Given the description of an element on the screen output the (x, y) to click on. 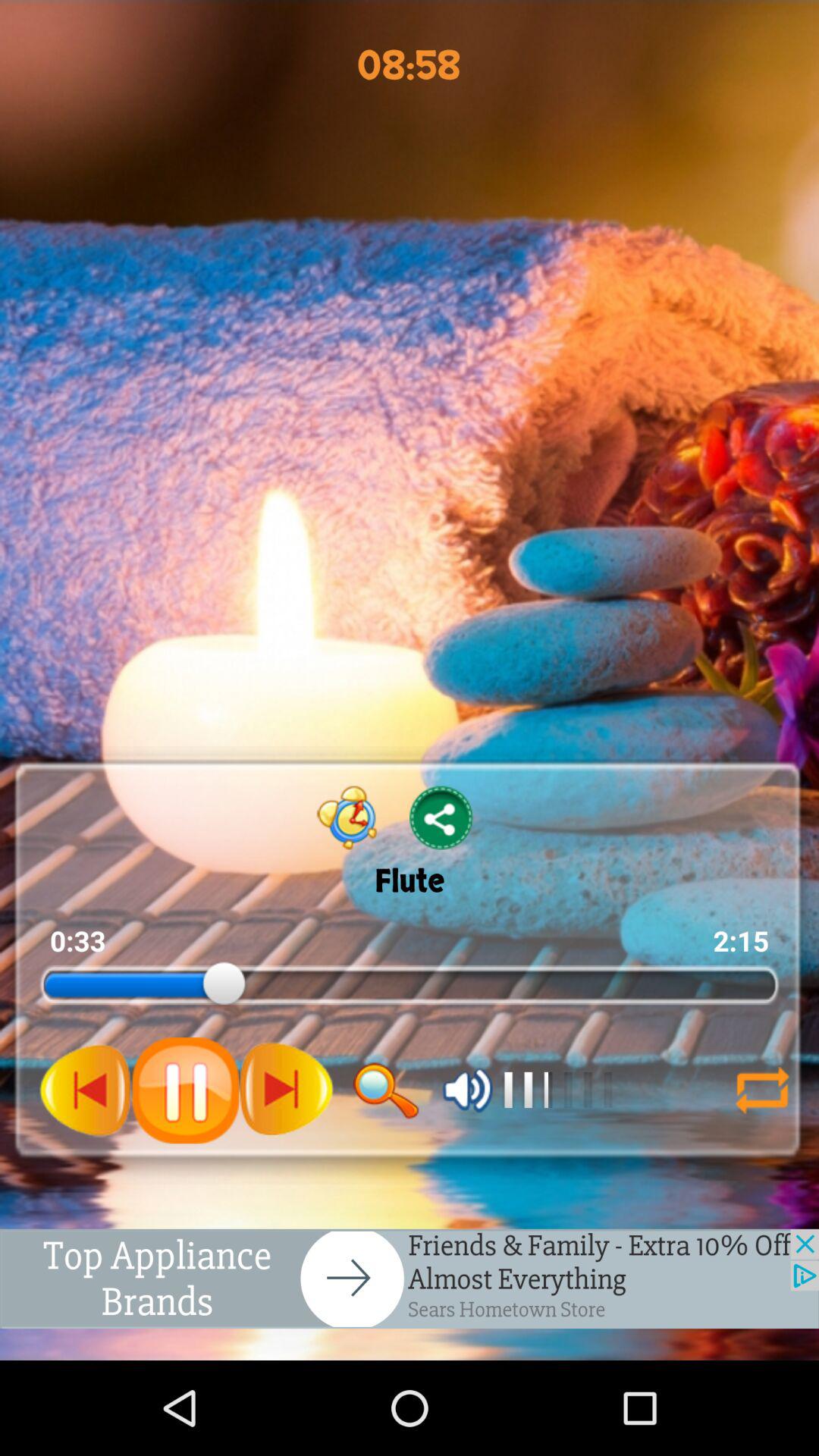
go to forward button (285, 1090)
